Given the description of an element on the screen output the (x, y) to click on. 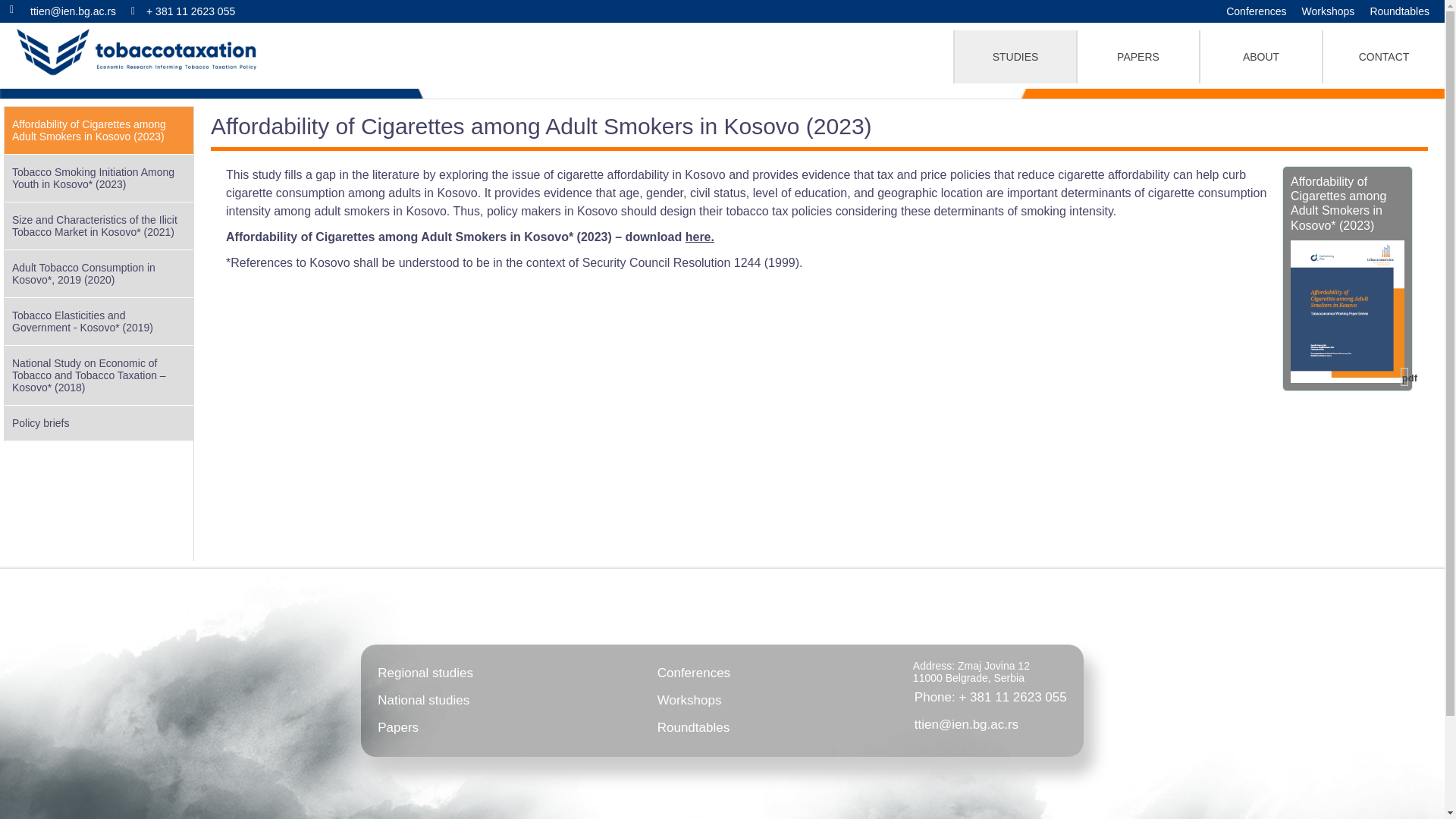
here. (699, 236)
National studies (424, 700)
STUDIES (1015, 56)
Policy briefs (98, 423)
Workshops (694, 700)
Regional studies (424, 673)
Conferences (694, 673)
ABOUT (1260, 56)
Papers (424, 728)
Roundtables (1399, 10)
Workshops (1328, 10)
Conferences (1255, 10)
Roundtables (694, 728)
PAPERS (1137, 56)
